Given the description of an element on the screen output the (x, y) to click on. 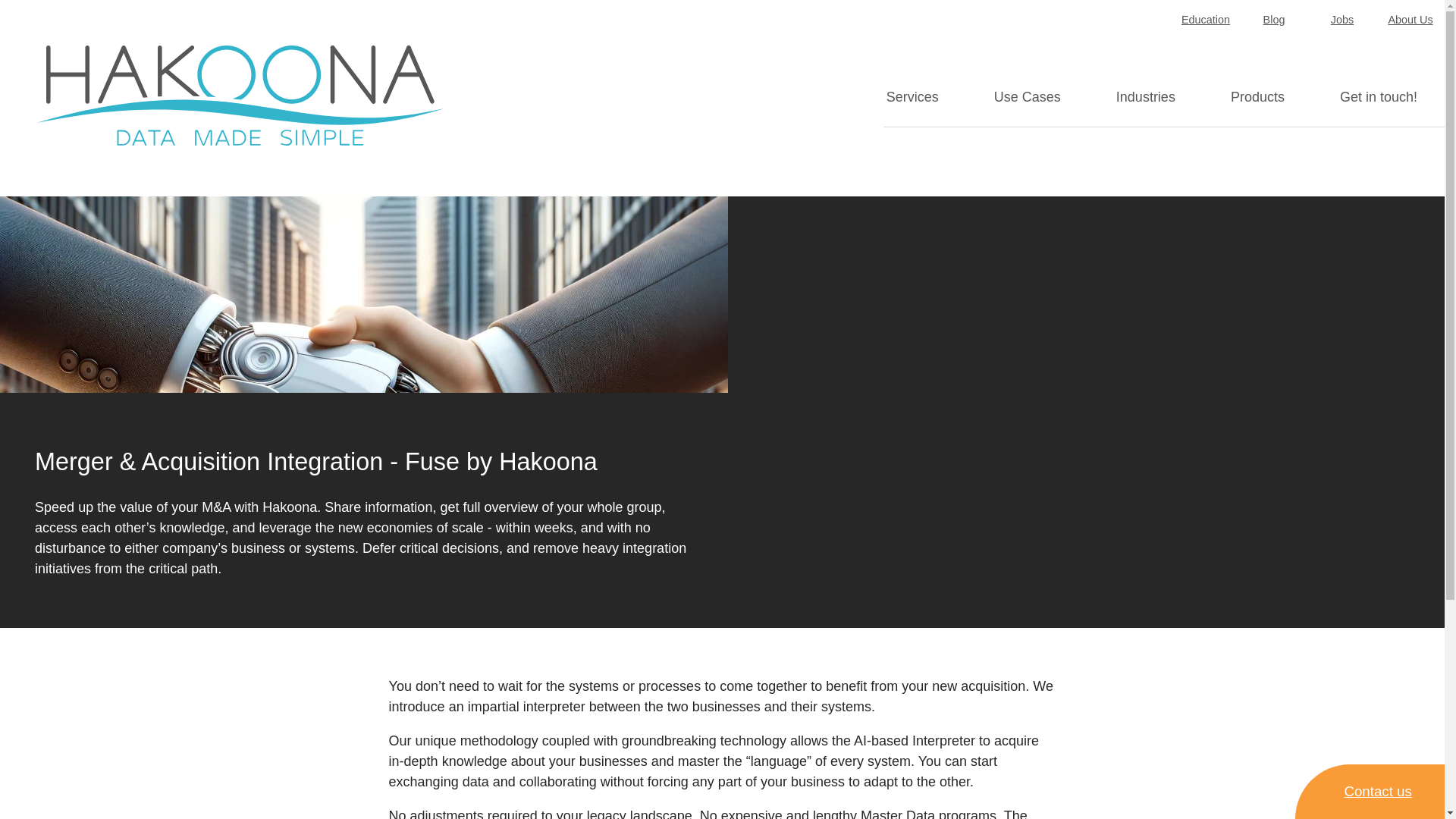
Contact us (1369, 791)
Get in touch! (1378, 97)
Use Cases (1026, 97)
Products (1257, 97)
Jobs (1341, 21)
Services (924, 97)
Industries (1145, 97)
About Us (1409, 21)
Education (1206, 21)
Blog (1273, 21)
